Given the description of an element on the screen output the (x, y) to click on. 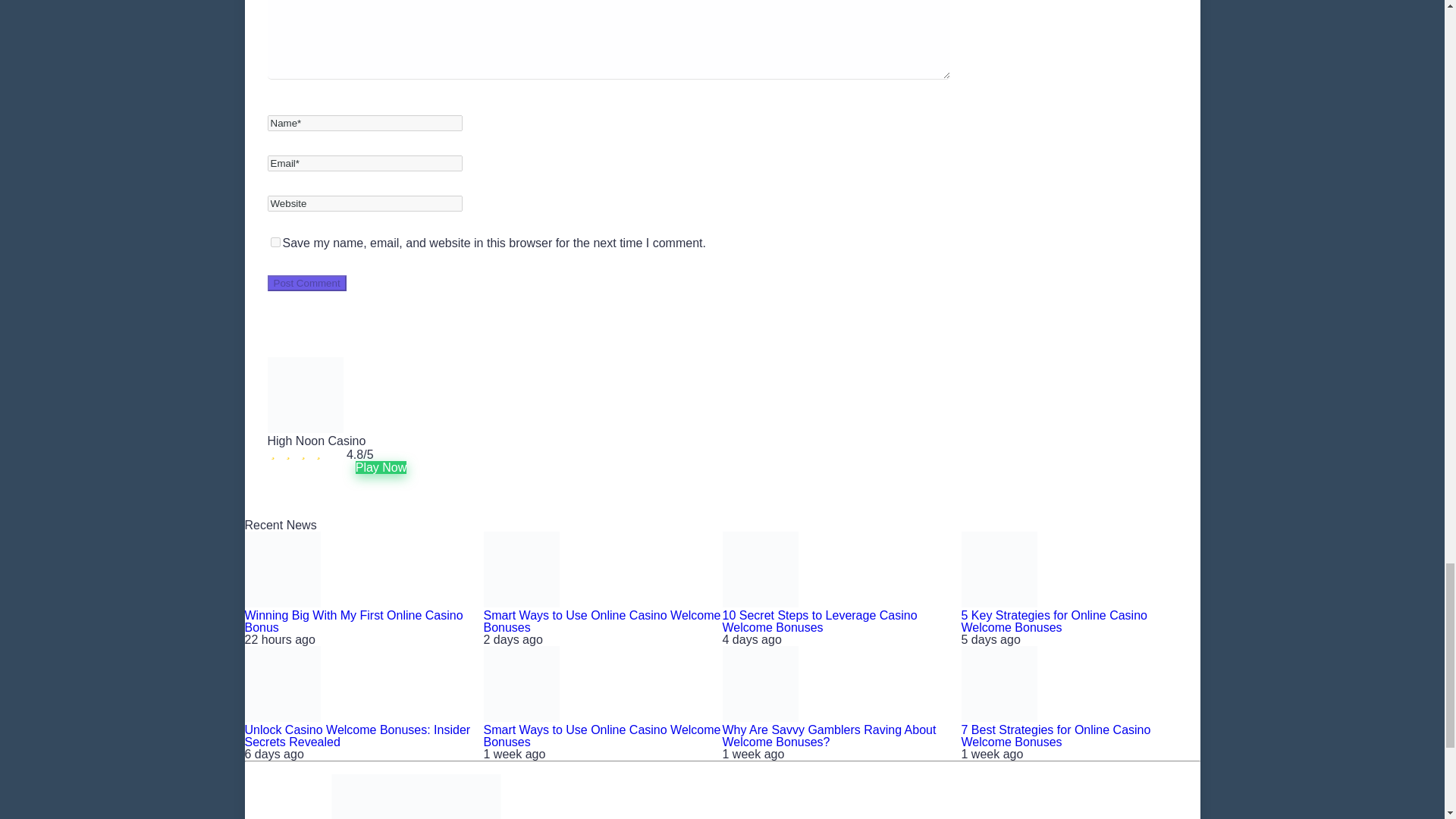
Post Comment (306, 283)
Post Comment (306, 283)
yes (274, 242)
